Given the description of an element on the screen output the (x, y) to click on. 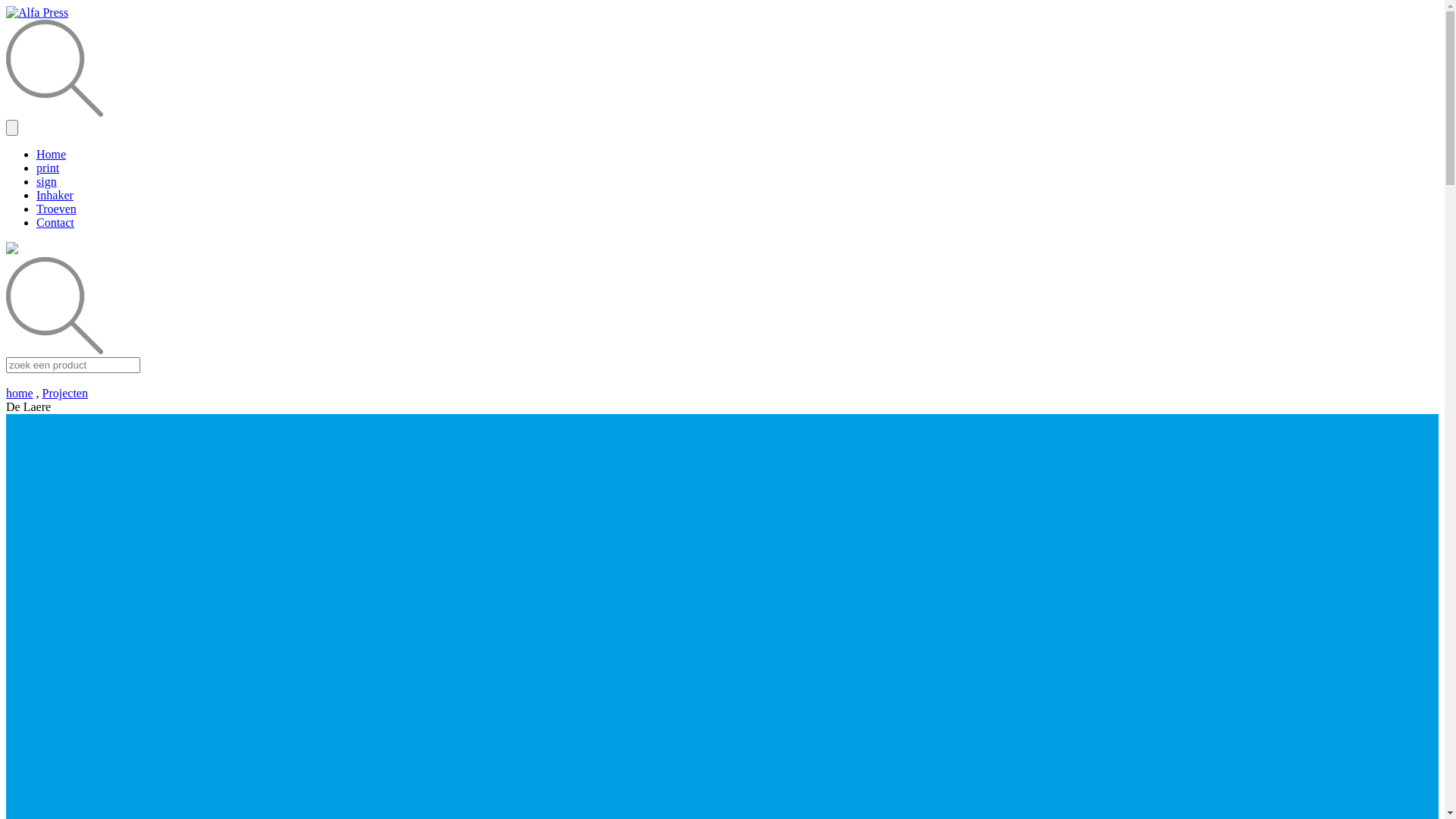
home Element type: text (19, 392)
Inhaker Element type: text (54, 194)
Contact Element type: text (55, 222)
Troeven Element type: text (56, 208)
print Element type: text (47, 167)
Projecten Element type: text (64, 392)
sign Element type: text (46, 181)
Home Element type: text (50, 153)
